Given the description of an element on the screen output the (x, y) to click on. 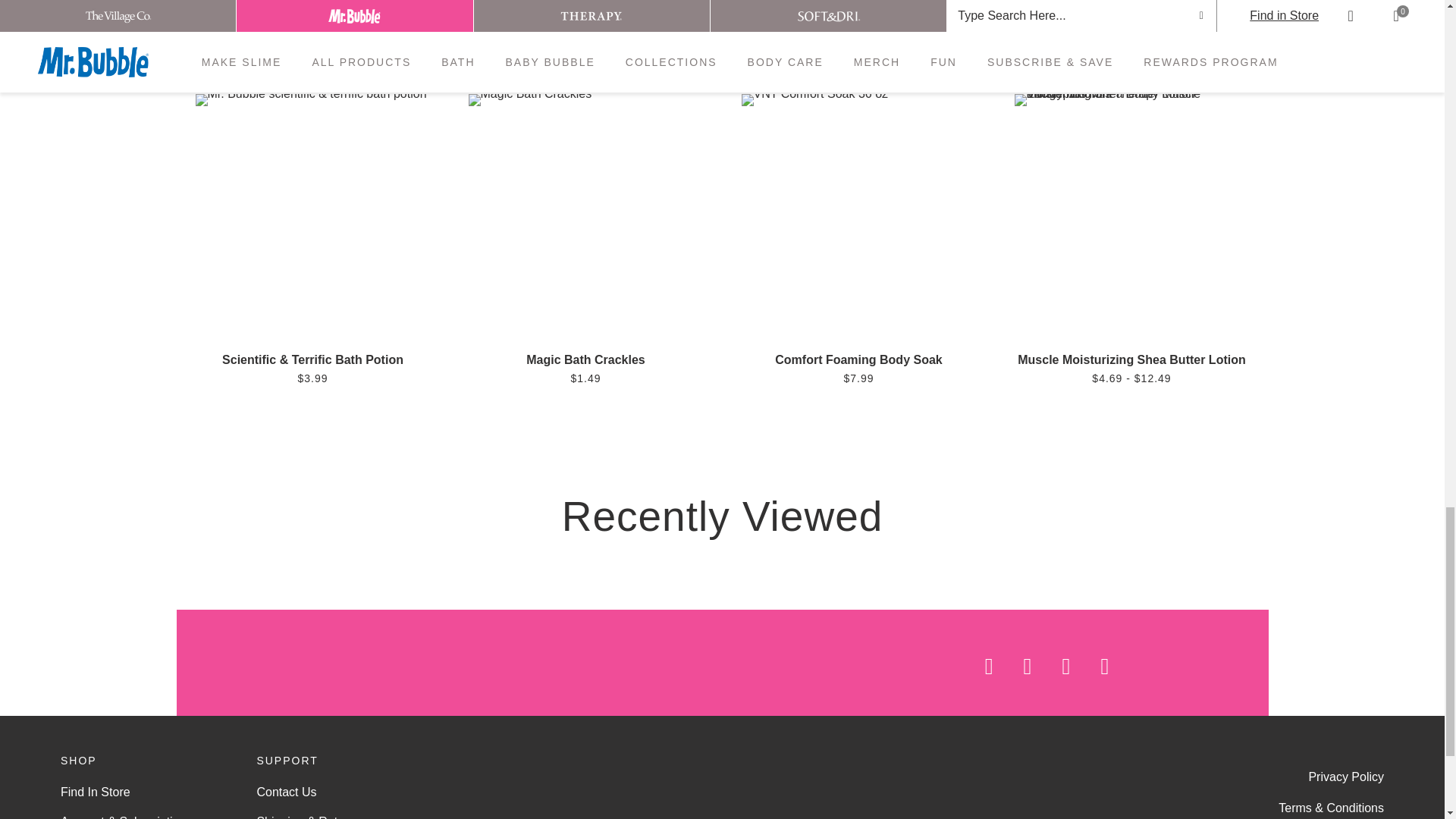
The Village Company on Facebook (973, 666)
The Village Company on TikTok (1183, 666)
The Village Company on Youtube (1051, 666)
The Village Company on Pinterest (1089, 666)
The Village Company on Twitter (1132, 666)
The Village Company on Instagram (1012, 666)
